Given the description of an element on the screen output the (x, y) to click on. 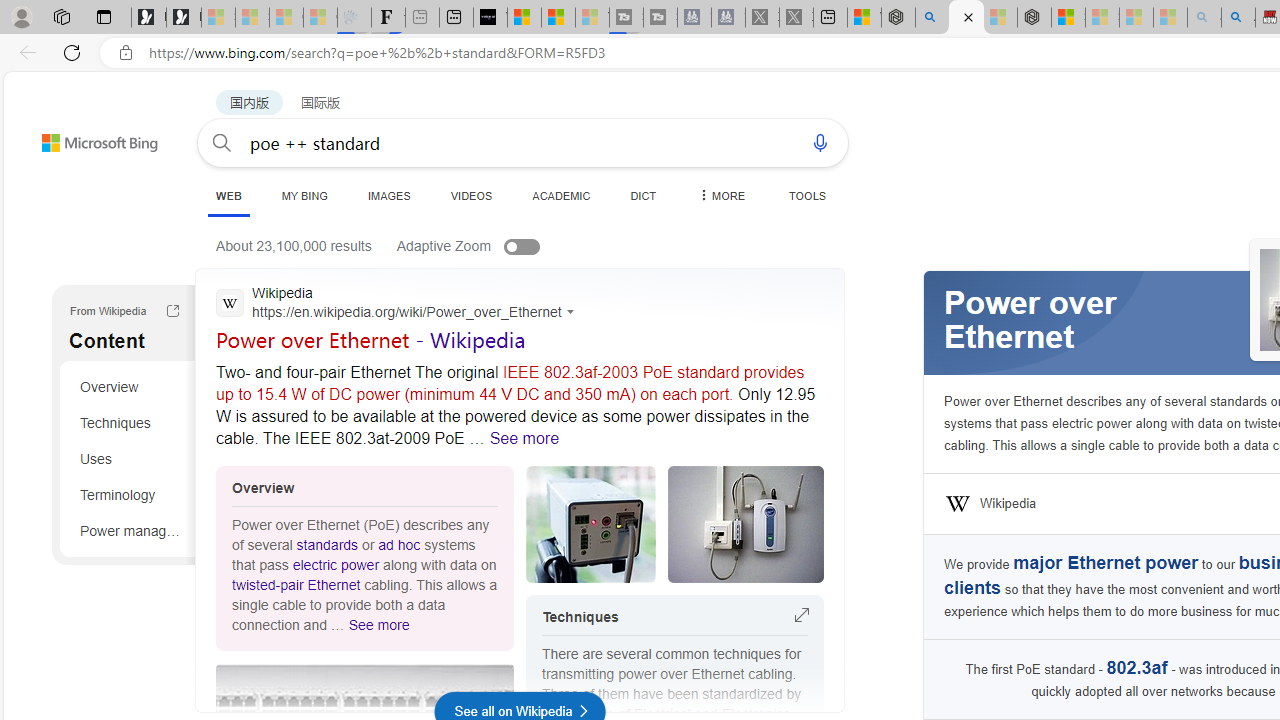
IMAGES (388, 195)
amazon - Search - Sleeping (1204, 17)
VIDEOS (470, 195)
Adaptive Zoom (488, 245)
twisted-pair Ethernet (295, 584)
Wikipedia (1007, 503)
Actions for this site (572, 311)
VIDEOS (470, 195)
New tab - Sleeping (422, 17)
Global web icon (229, 303)
